Given the description of an element on the screen output the (x, y) to click on. 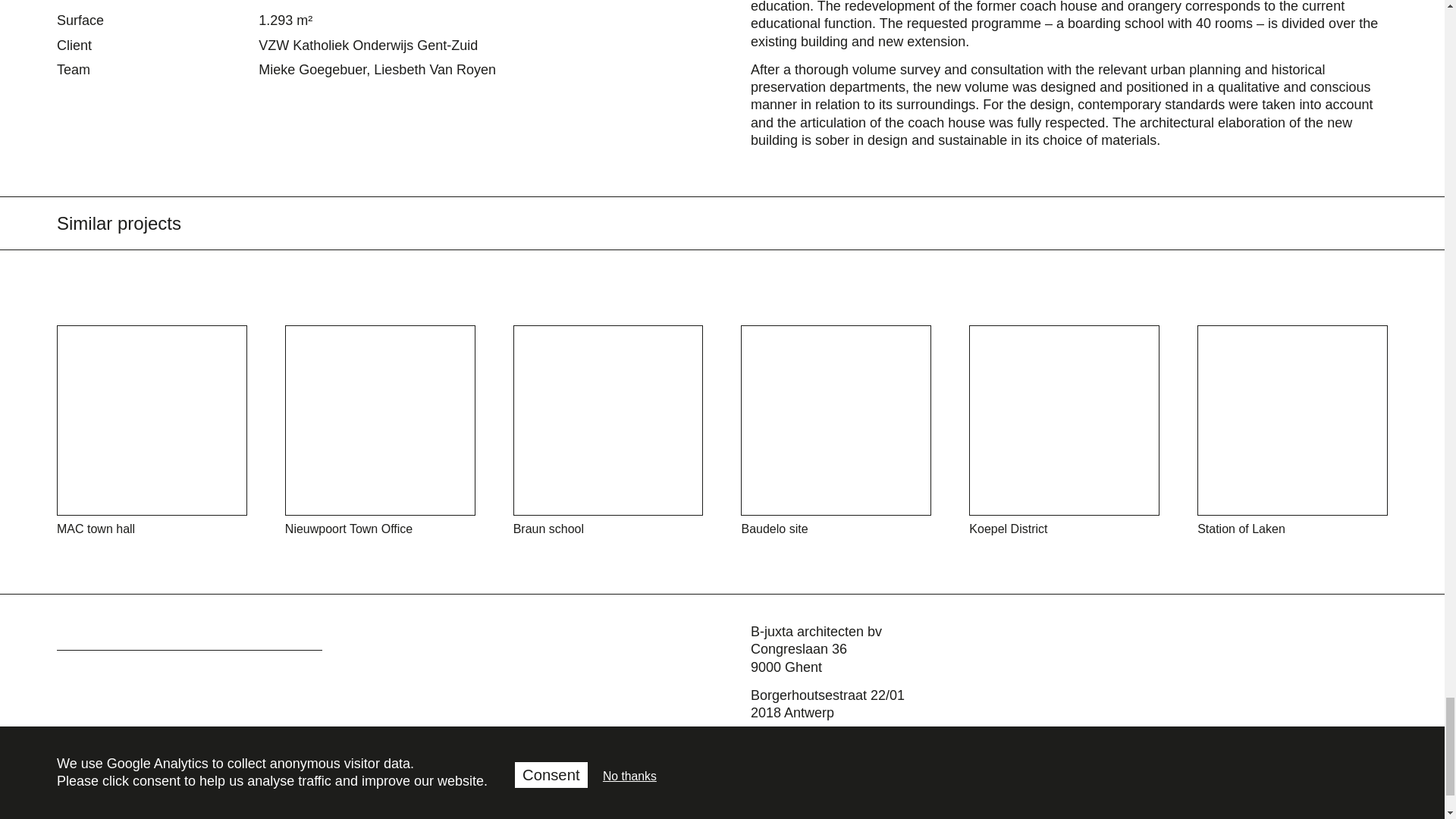
Station of Laken (1291, 431)
Koepel District (1063, 431)
Baudelo site (836, 431)
MAC town hall (151, 431)
Braun school (608, 431)
Nieuwpoort Town Office (380, 431)
